Given the description of an element on the screen output the (x, y) to click on. 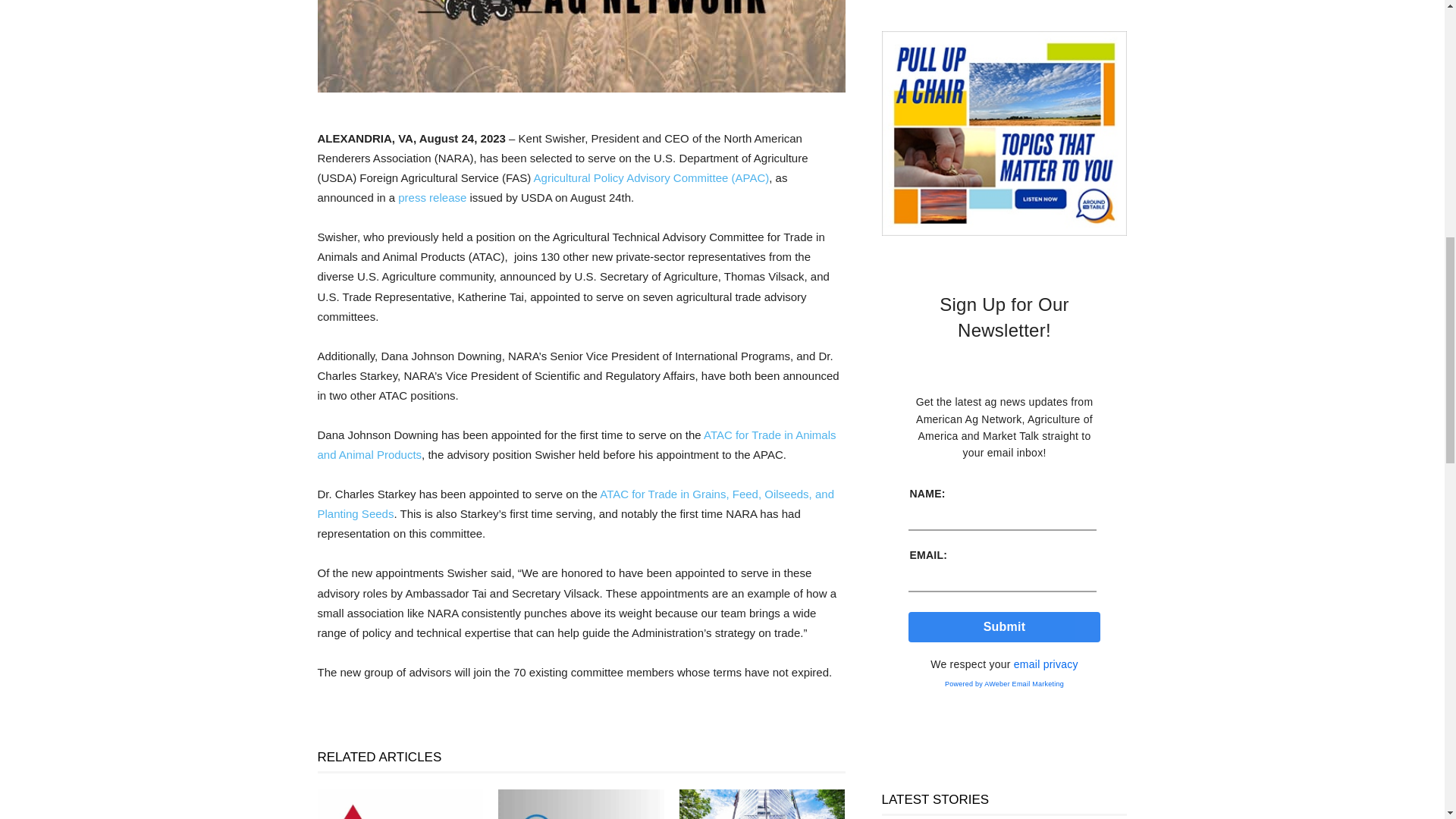
Submit (1004, 626)
news aan logo (580, 46)
